Given the description of an element on the screen output the (x, y) to click on. 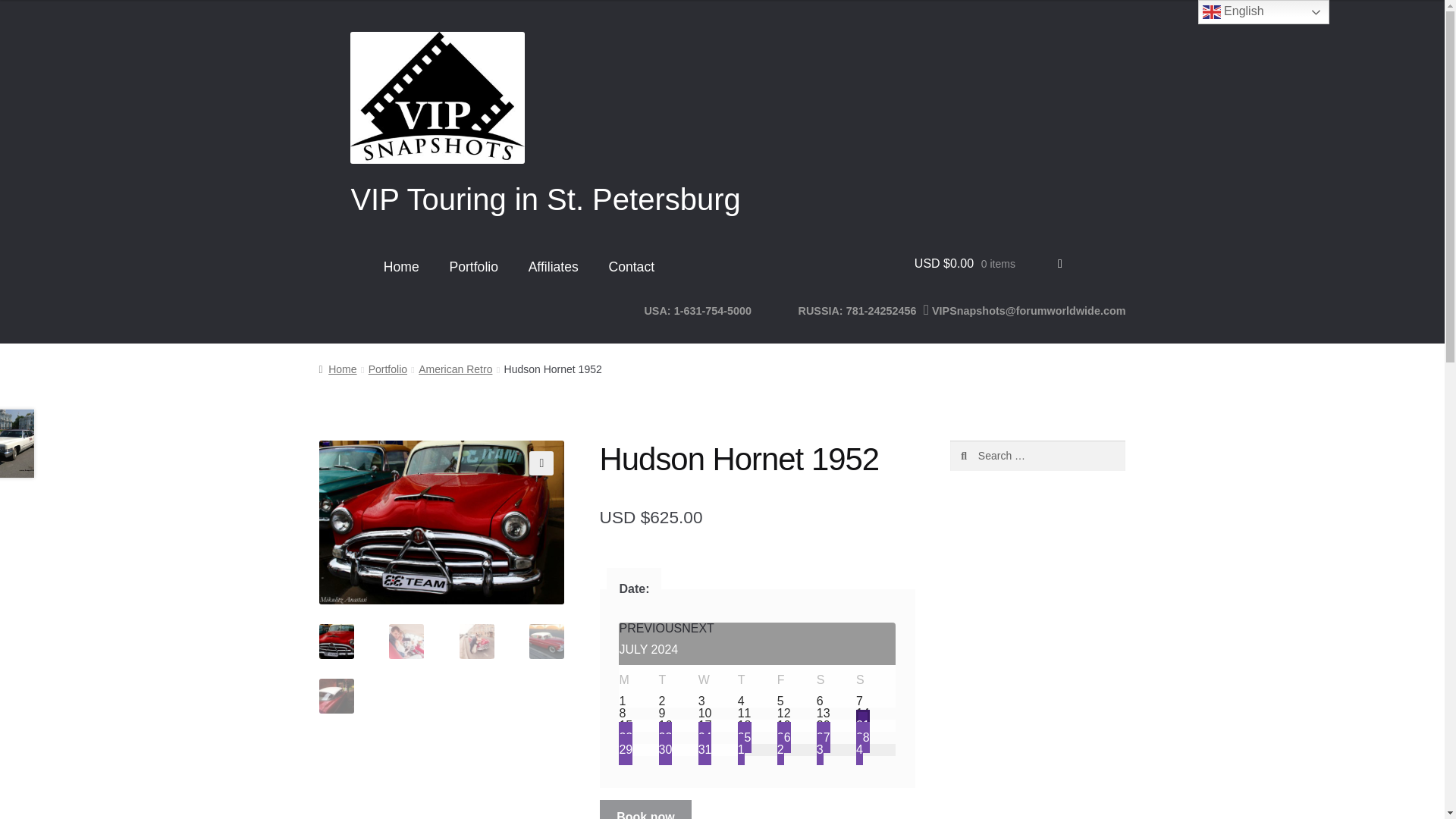
Affiliates (553, 266)
View your shopping cart (988, 263)
Portfolio (473, 266)
Previous (649, 627)
Home (400, 266)
Contact (631, 266)
PREVIOUS (649, 627)
American Retro (455, 369)
Next (697, 627)
Home (337, 369)
This date is available (638, 701)
This date is available (678, 701)
